Given the description of an element on the screen output the (x, y) to click on. 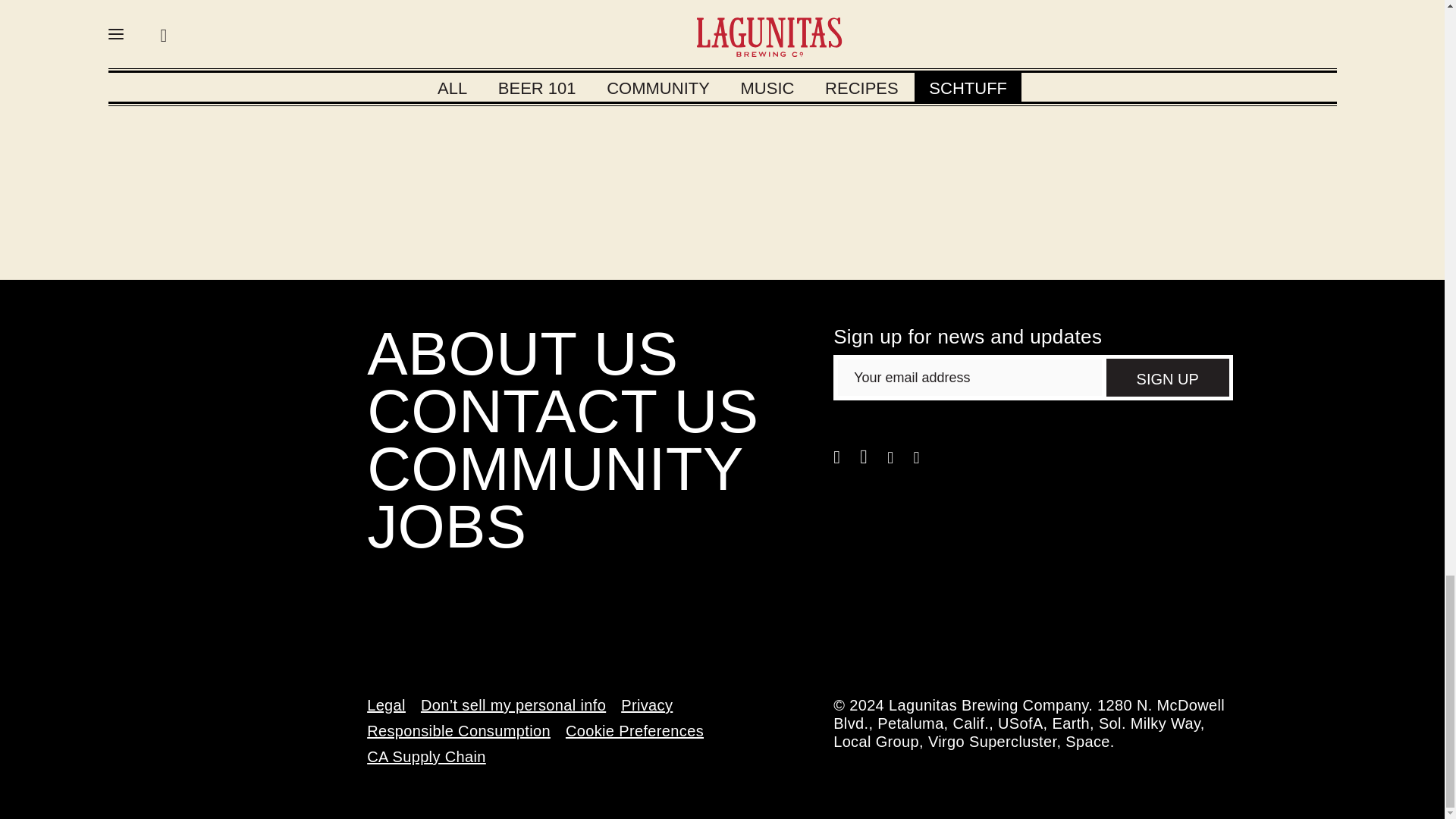
LAL: ROBERT RANDOLPH BAND (413, 77)
sign up (1167, 377)
VARIETEA PACK (671, 66)
